Given the description of an element on the screen output the (x, y) to click on. 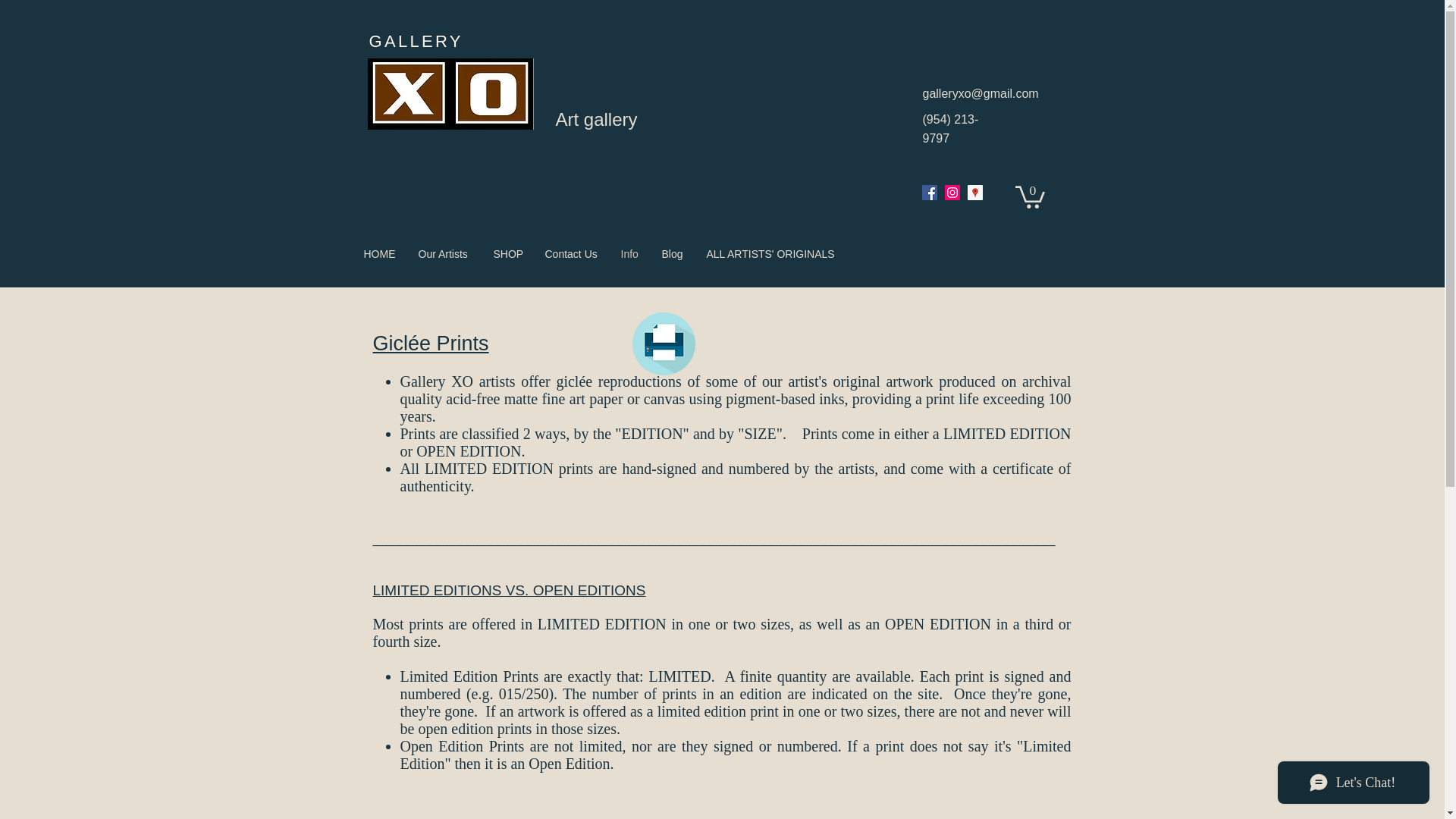
HOME (379, 253)
Info (630, 253)
0 (1028, 195)
0 (1028, 195)
SHOP (507, 253)
Site Search (1168, 257)
Our Artists (443, 253)
Contact Us (572, 253)
